Given the description of an element on the screen output the (x, y) to click on. 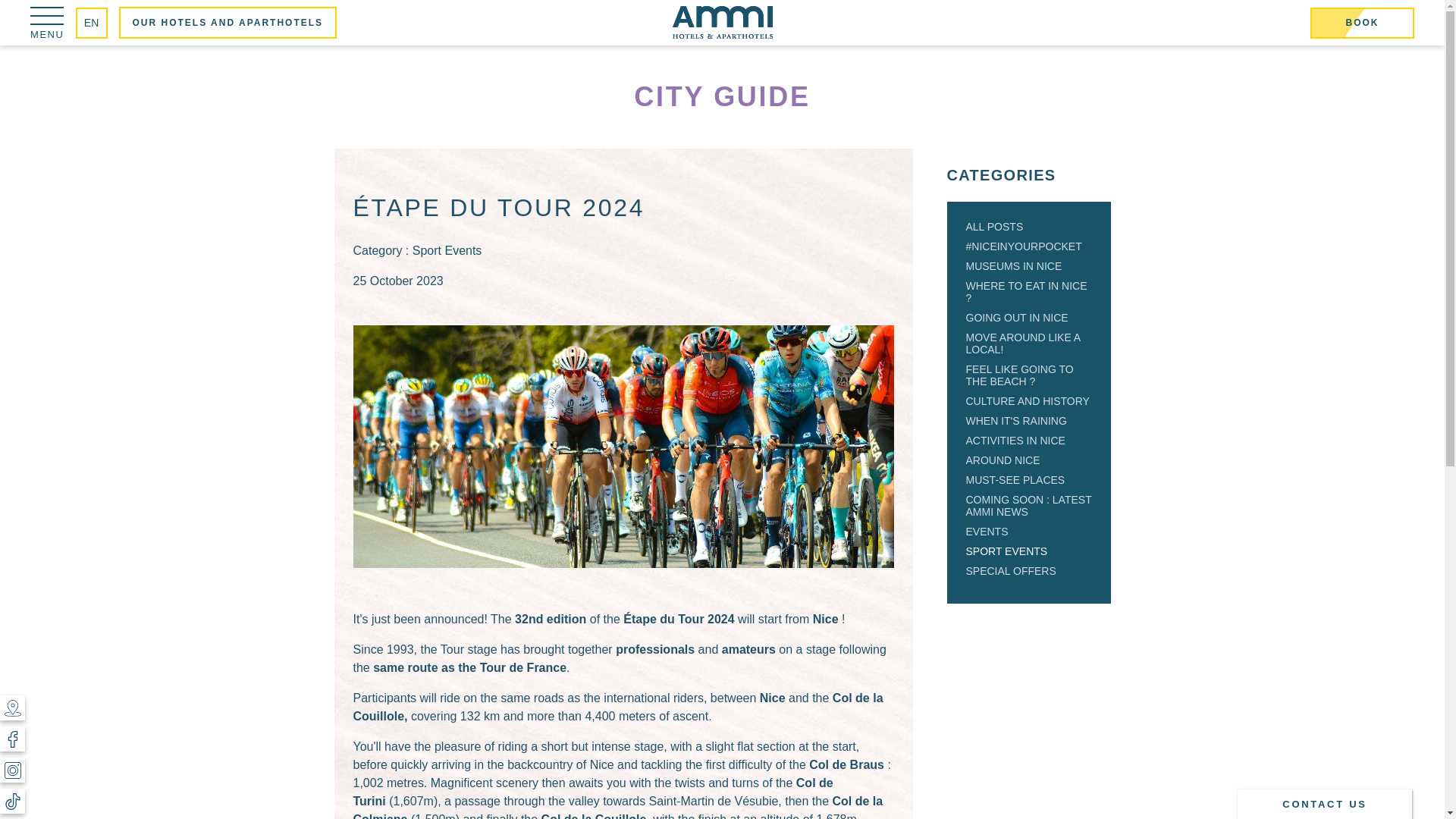
COMING SOON : LATEST AMMI NEWS (1029, 505)
MUSEUMS IN NICE (1014, 265)
ACTIVITIES IN NICE (1015, 440)
CULTURE AND HISTORY (1027, 400)
WHEN IT'S RAINING (1016, 420)
SPORT EVENTS (1007, 551)
FEEL LIKE GOING TO THE BEACH ? (1020, 375)
GOING OUT IN NICE (1017, 317)
MUST-SEE PLACES (1015, 480)
OUR HOTELS AND APARTHOTELS (228, 22)
ALL POSTS (994, 226)
WHERE TO EAT IN NICE ? (1026, 291)
Sport Events (446, 250)
MENU (47, 21)
EVENTS (987, 531)
